Given the description of an element on the screen output the (x, y) to click on. 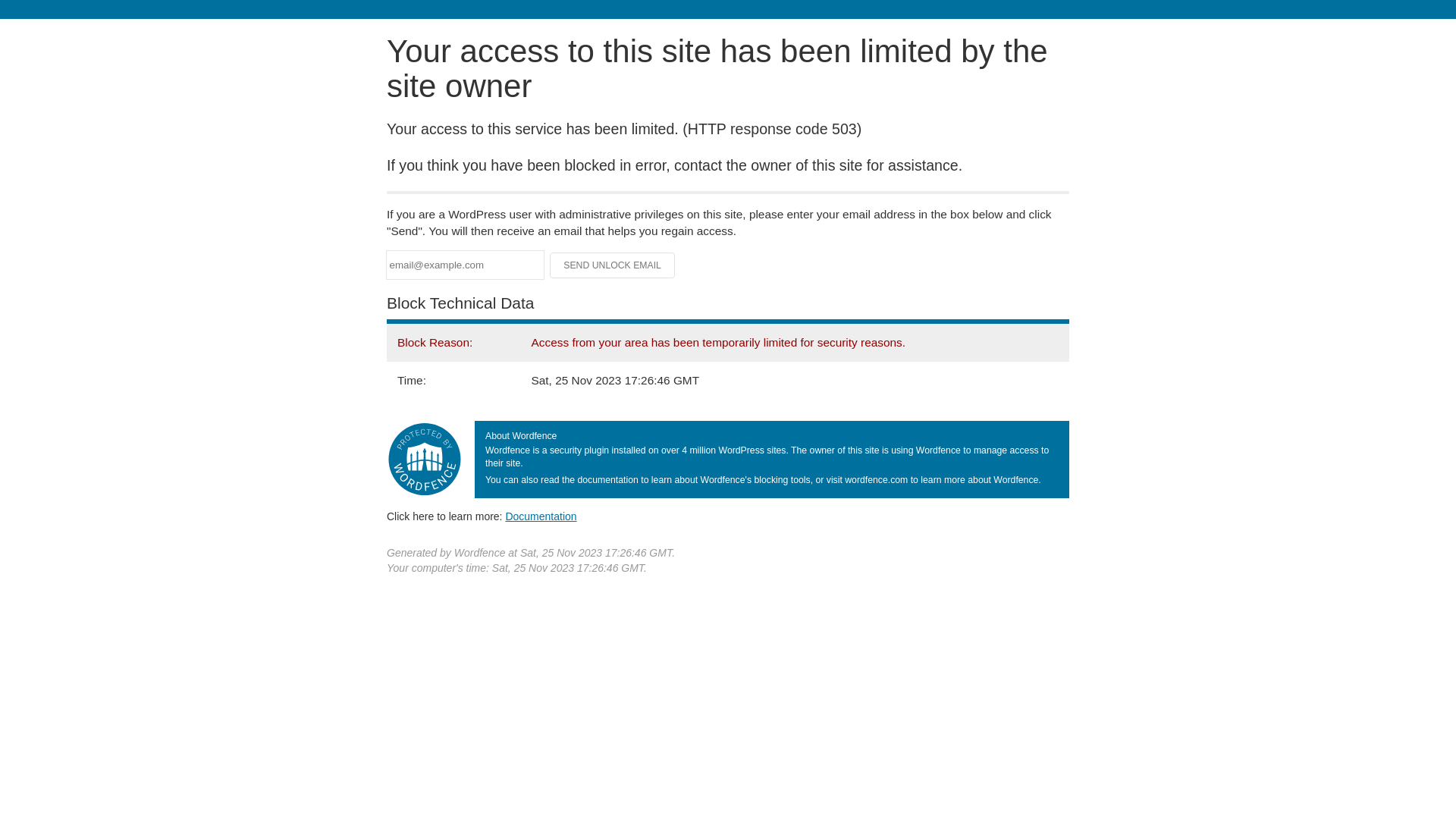
Documentation Element type: text (540, 516)
Send Unlock Email Element type: text (612, 265)
